Given the description of an element on the screen output the (x, y) to click on. 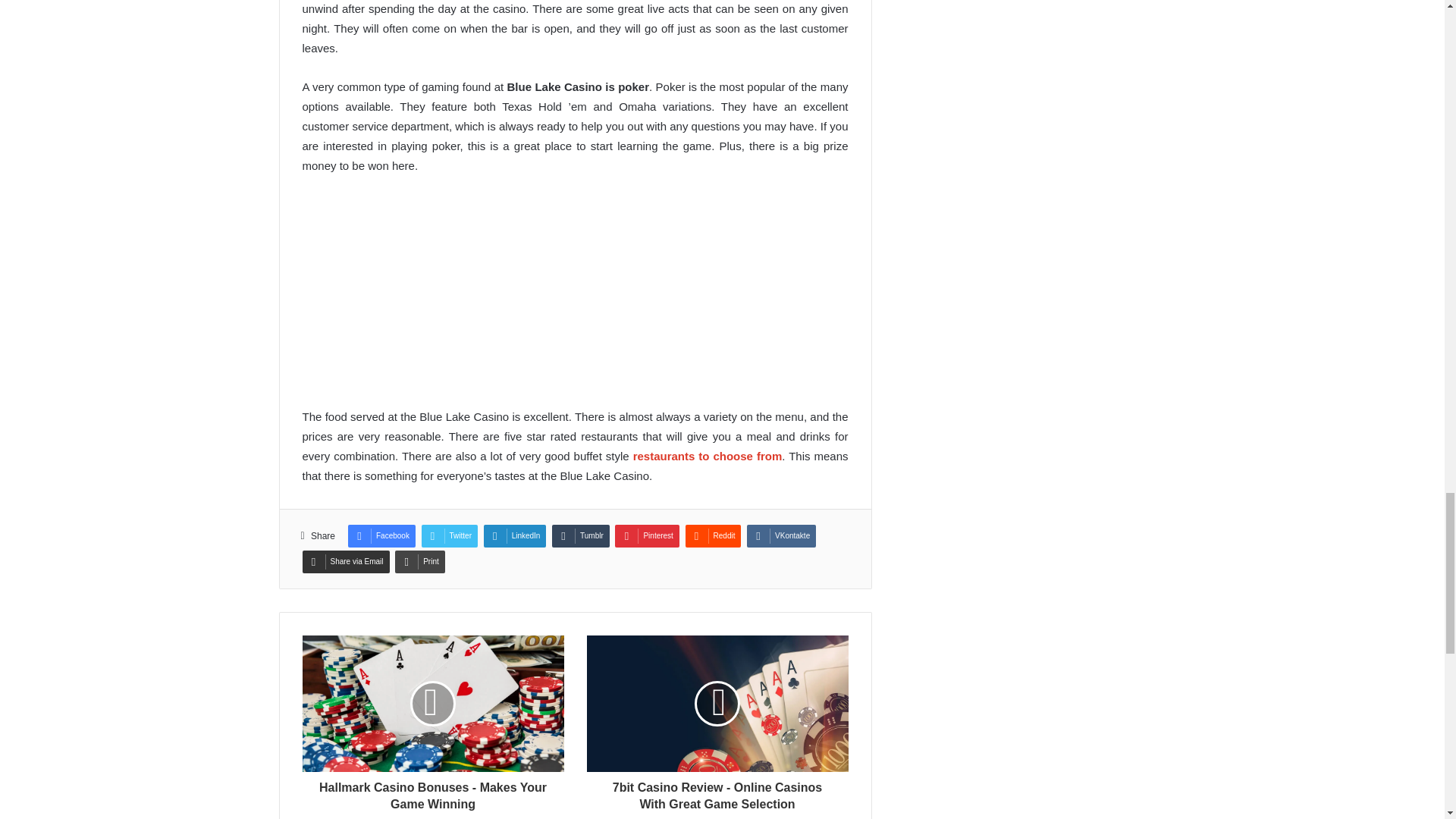
VKontakte (780, 535)
Pinterest (646, 535)
Print (419, 561)
Share via Email (344, 561)
LinkedIn (515, 535)
Twitter (449, 535)
Reddit (713, 535)
restaurants to choose from (708, 455)
Facebook (380, 535)
Tumblr (580, 535)
